Given the description of an element on the screen output the (x, y) to click on. 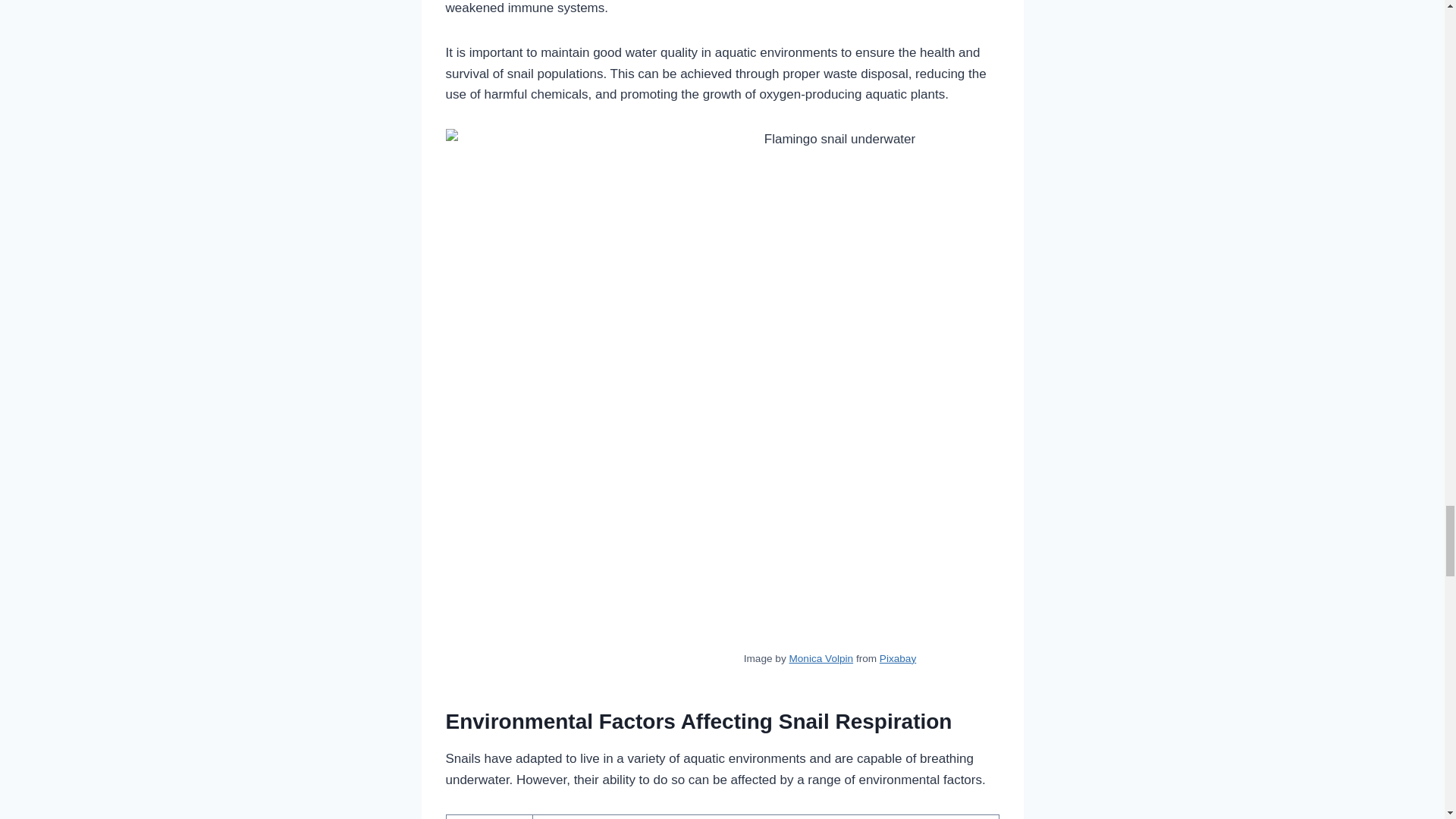
Pixabay (897, 658)
Monica Volpin (821, 658)
